Given the description of an element on the screen output the (x, y) to click on. 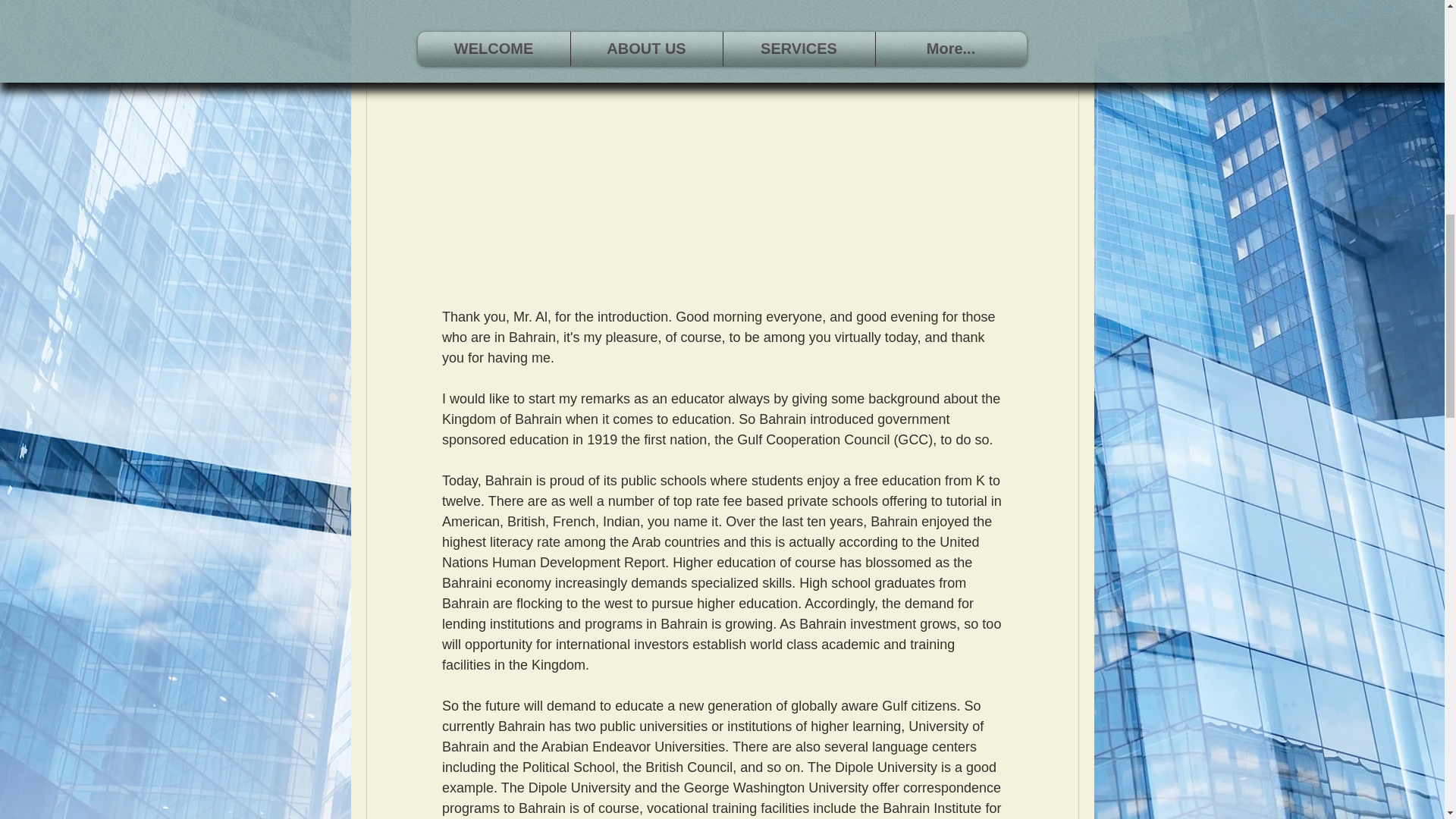
ricos-video (722, 41)
